Given the description of an element on the screen output the (x, y) to click on. 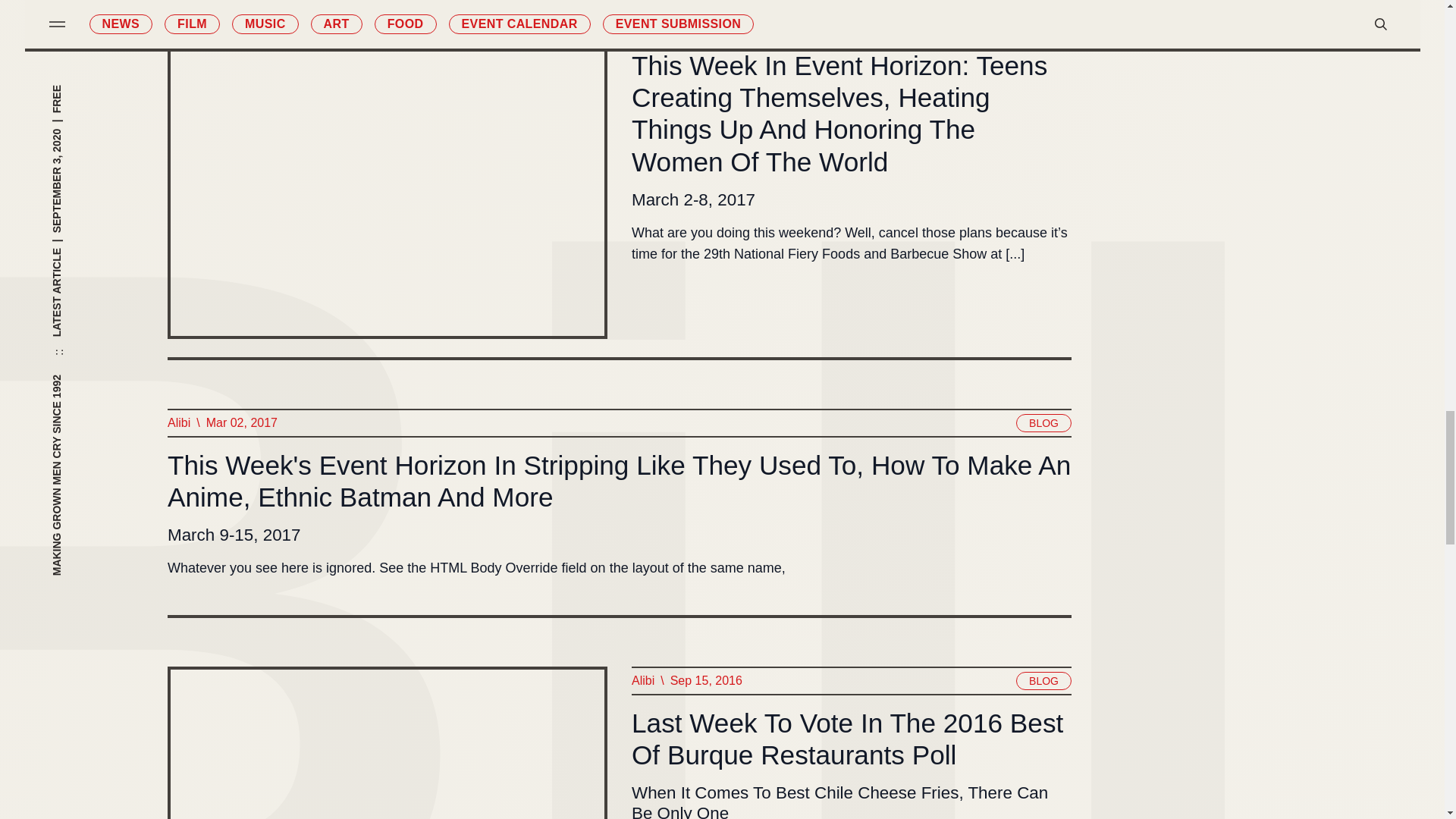
BLOG (1043, 23)
BLOG (1043, 423)
Alibi (641, 23)
Alibi (178, 423)
